Given the description of an element on the screen output the (x, y) to click on. 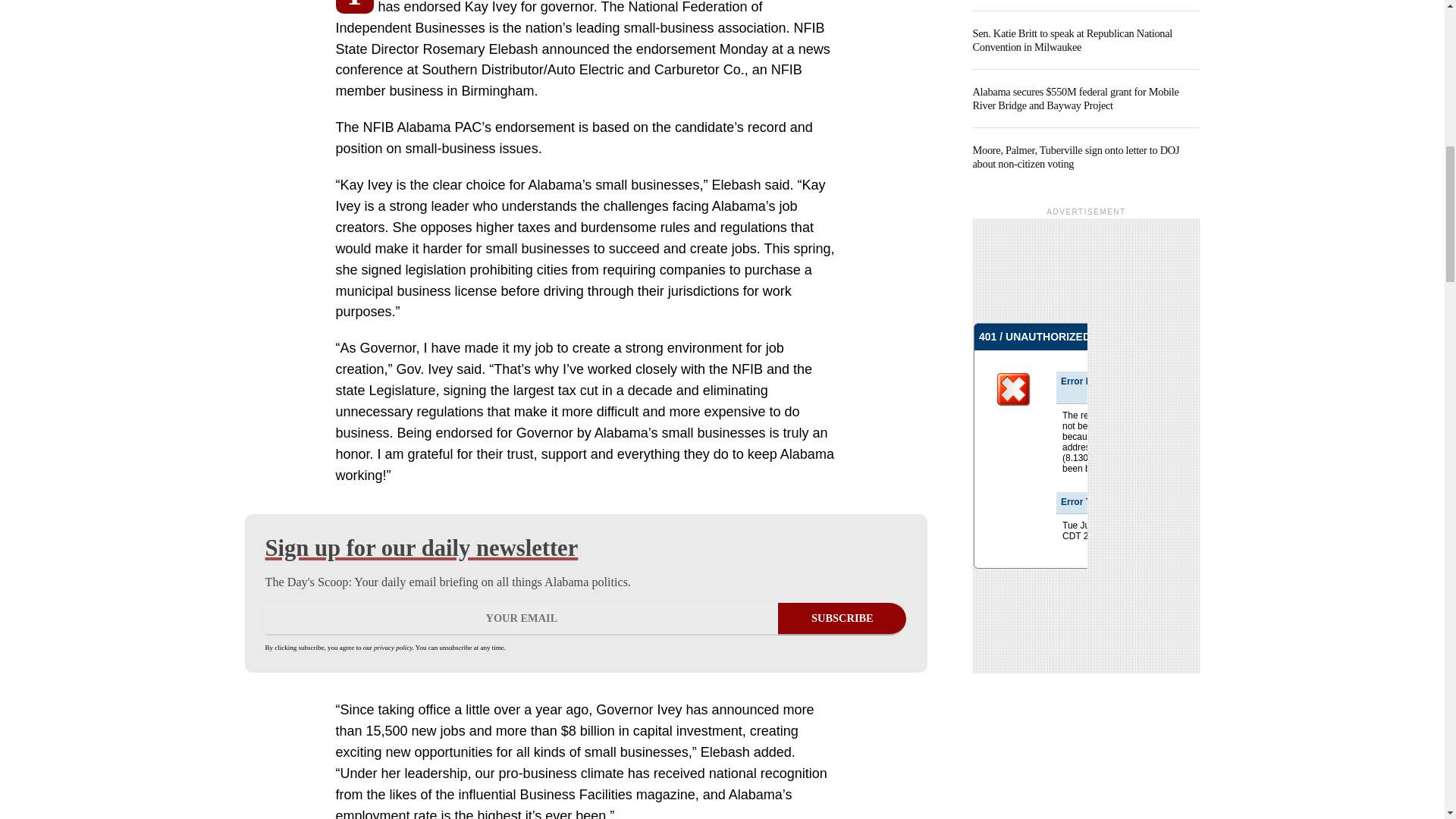
Subscribe (841, 618)
